Given the description of an element on the screen output the (x, y) to click on. 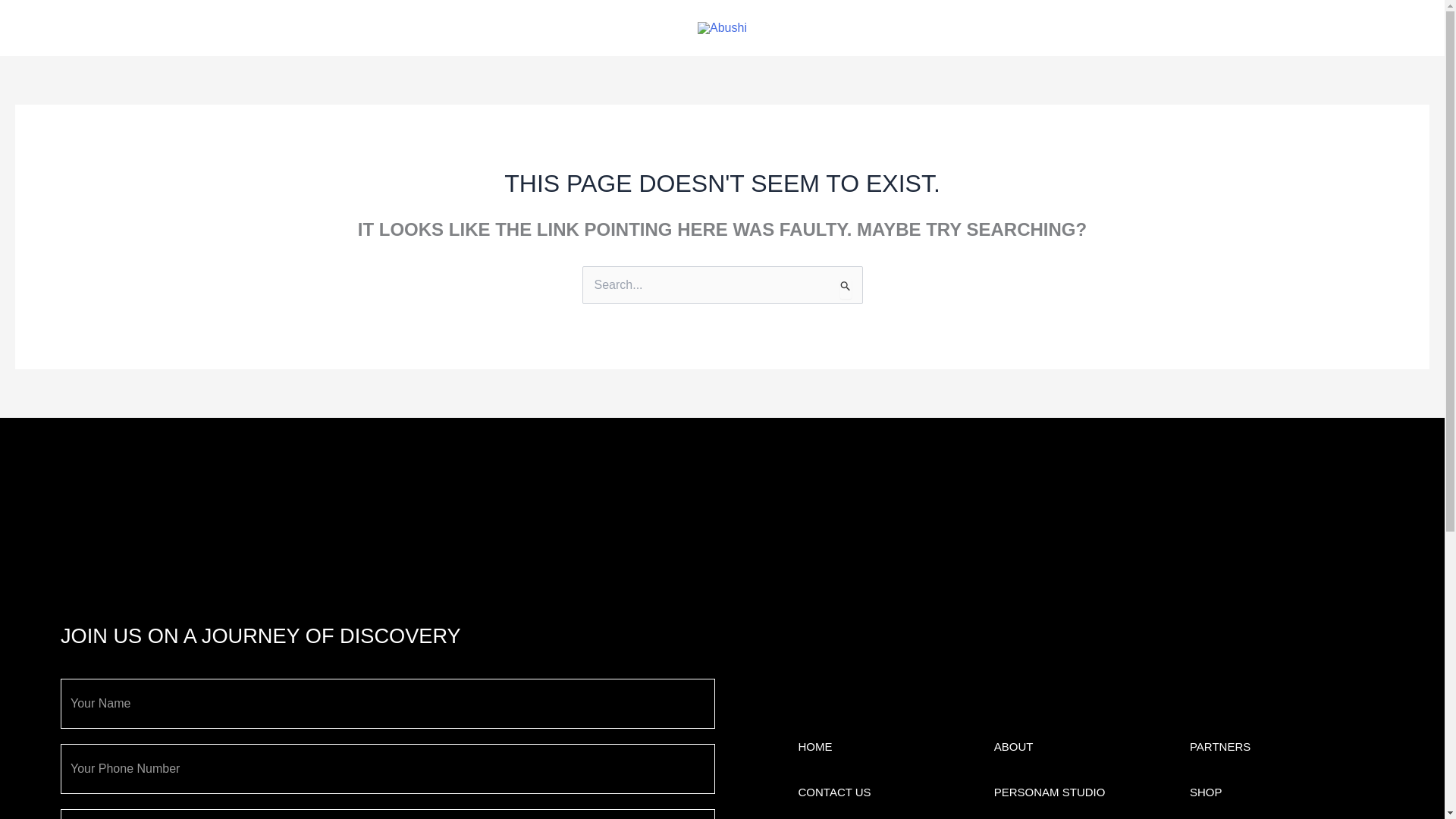
PARTNERS (1219, 746)
SHOP (1206, 791)
PERSONAM STUDIO (1049, 791)
ABOUT (83, 27)
CONTACT US (1013, 746)
HOME (833, 791)
CONTACT (814, 746)
